Given the description of an element on the screen output the (x, y) to click on. 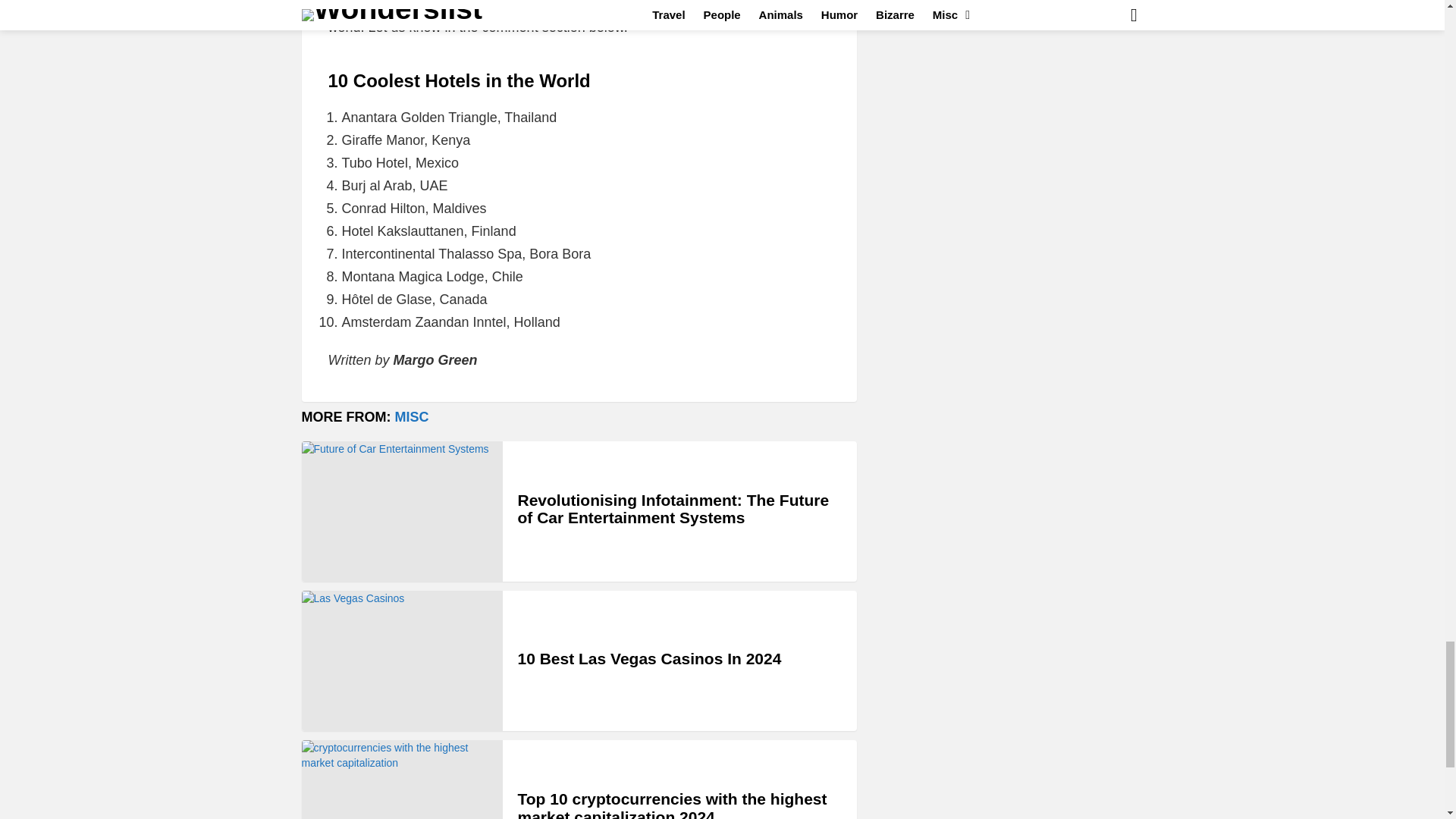
10 Best Las Vegas Casinos In 2024 (401, 660)
